Given the description of an element on the screen output the (x, y) to click on. 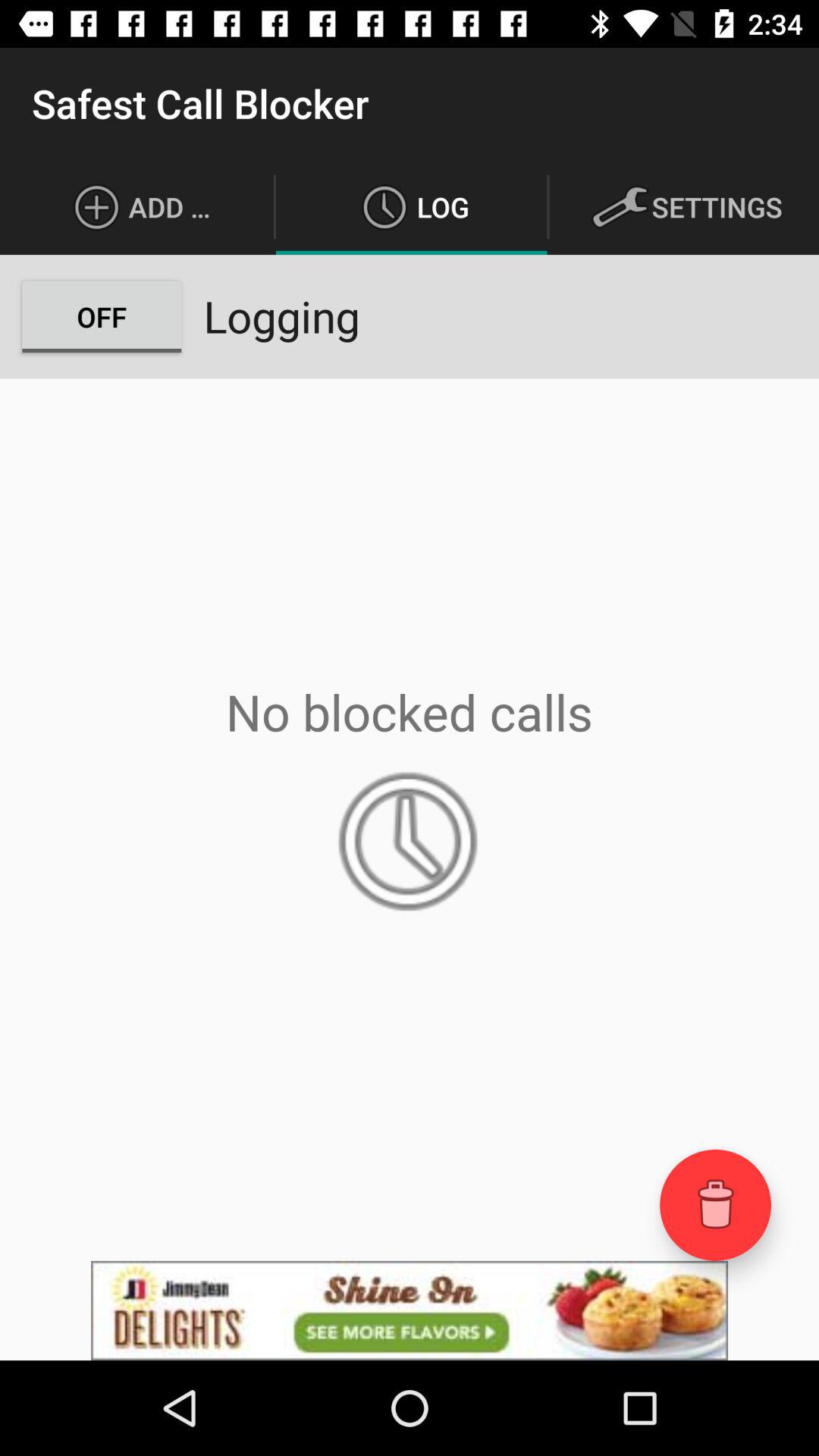
click and open link to website (409, 1310)
